Given the description of an element on the screen output the (x, y) to click on. 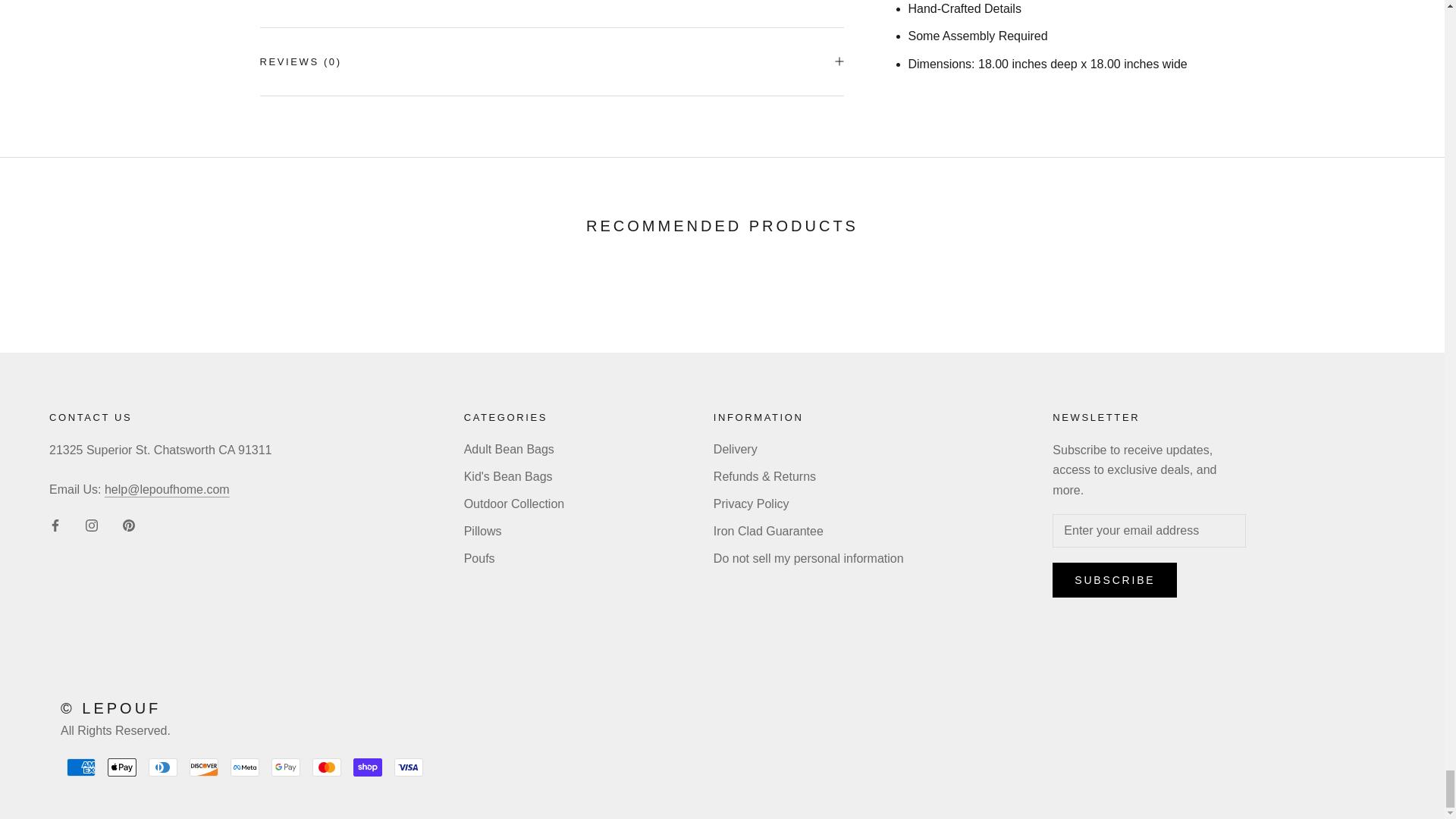
Discover (203, 767)
Visa (408, 767)
Mastercard (326, 767)
American Express (81, 767)
Diners Club (162, 767)
Apple Pay (121, 767)
Meta Pay (244, 767)
Shop Pay (367, 767)
Google Pay (284, 767)
